Given the description of an element on the screen output the (x, y) to click on. 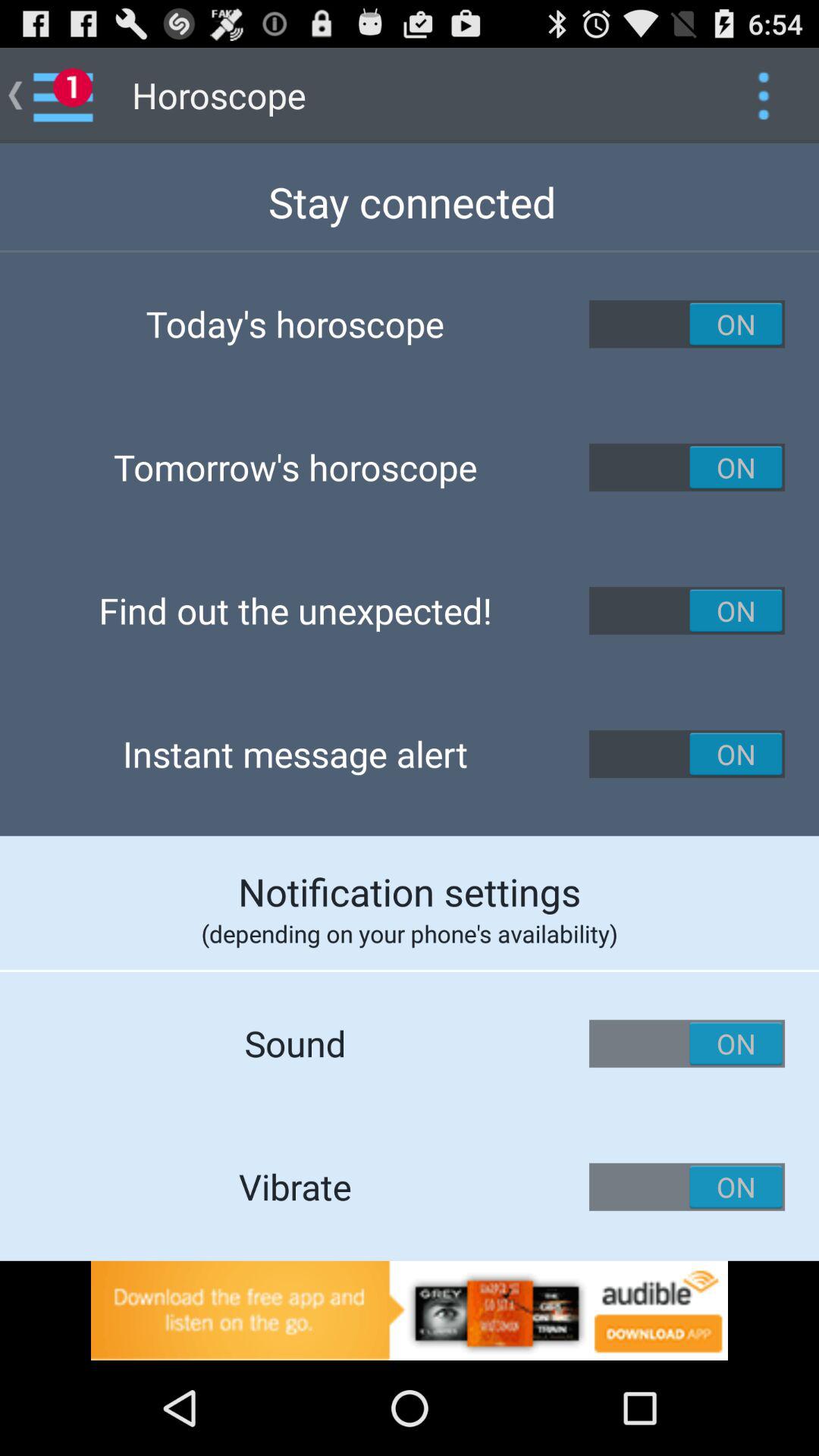
on button (686, 754)
